Given the description of an element on the screen output the (x, y) to click on. 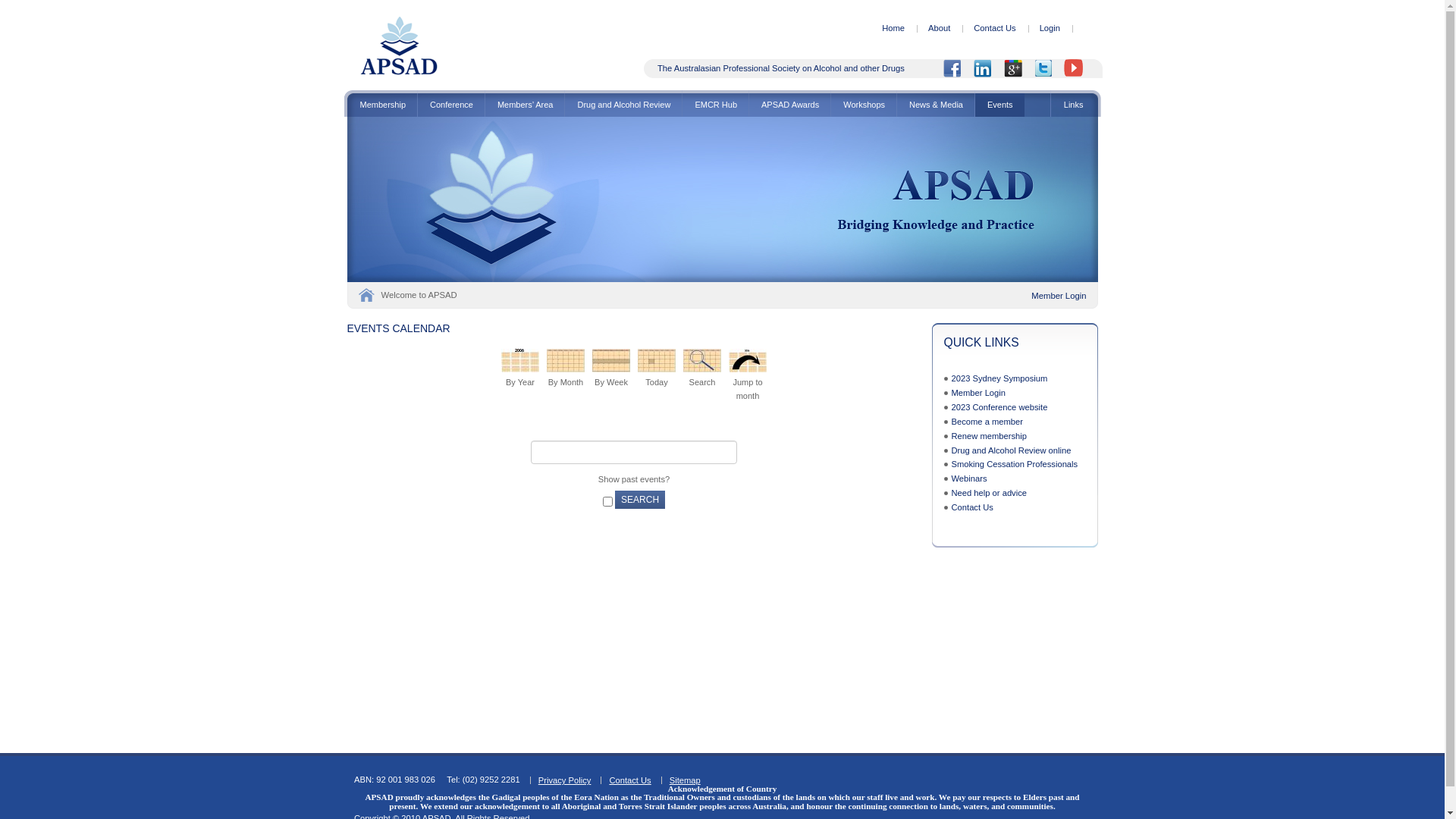
Webinars Element type: text (968, 478)
Workshops Element type: text (863, 104)
Drug and Alcohol Review online Element type: text (1010, 450)
Twitter Element type: text (1048, 68)
Smoking Cessation Professionals Element type: text (1013, 463)
Privacy Policy Element type: text (564, 779)
2023 Conference website Element type: text (998, 406)
Drug and Alcohol Review Element type: text (622, 104)
Contact Us Element type: text (971, 506)
Member Login Element type: text (977, 392)
Events Element type: text (999, 104)
Contact Us Element type: text (629, 779)
Member Login Element type: text (1058, 295)
APASD Element type: hover (398, 72)
Home Element type: text (892, 28)
Renew membership Element type: text (988, 435)
By Week Element type: hover (611, 360)
News & Media Element type: text (935, 104)
Login Element type: text (1049, 28)
Google+ Element type: text (1018, 68)
Search Element type: text (640, 499)
Contact Us Element type: text (994, 28)
By Year Element type: hover (520, 360)
Links Element type: text (1074, 104)
Search Element type: hover (702, 360)
EMCR Hub Element type: text (715, 104)
By Month Element type: hover (565, 360)
Sitemap Element type: text (684, 779)
Conference Element type: text (450, 104)
Membership Element type: text (382, 104)
LinkedIn Element type: text (987, 68)
About Element type: text (939, 28)
Today Element type: hover (656, 360)
Jump to month Element type: hover (747, 360)
2023 Sydney Symposium Element type: text (998, 377)
Become a member Element type: text (986, 421)
APASD Element type: hover (398, 45)
Youtube Element type: text (1078, 68)
Need help or advice Element type: text (988, 492)
APSAD Awards Element type: text (789, 104)
Facebook Element type: text (957, 68)
Welcome Element type: text (365, 294)
